Given the description of an element on the screen output the (x, y) to click on. 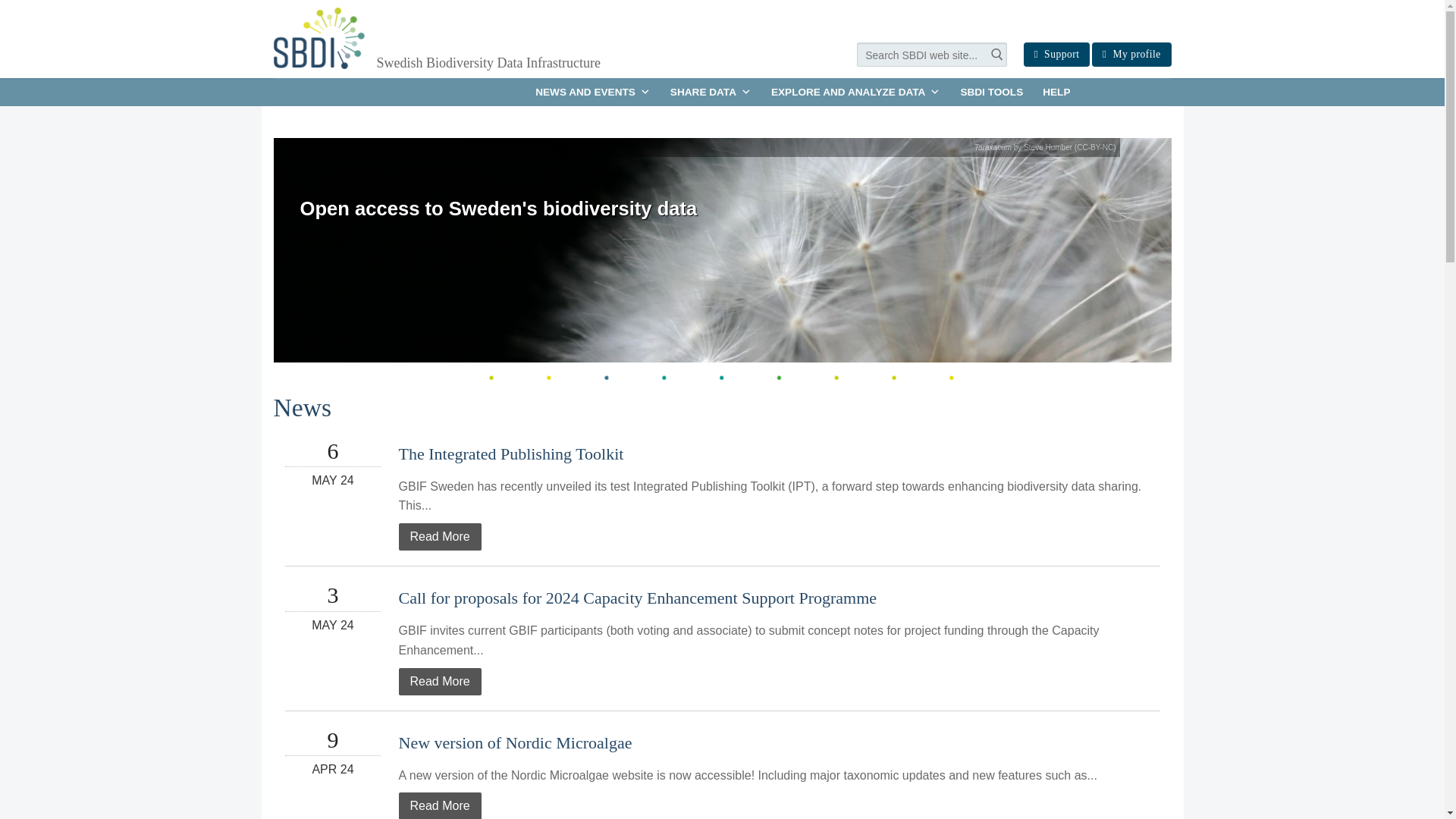
My profile (1131, 54)
SHARE DATA (711, 91)
Search for: (931, 55)
Support (1056, 54)
NEWS AND EVENTS (593, 91)
EXPLORE AND ANALYZE DATA (855, 91)
